Given the description of an element on the screen output the (x, y) to click on. 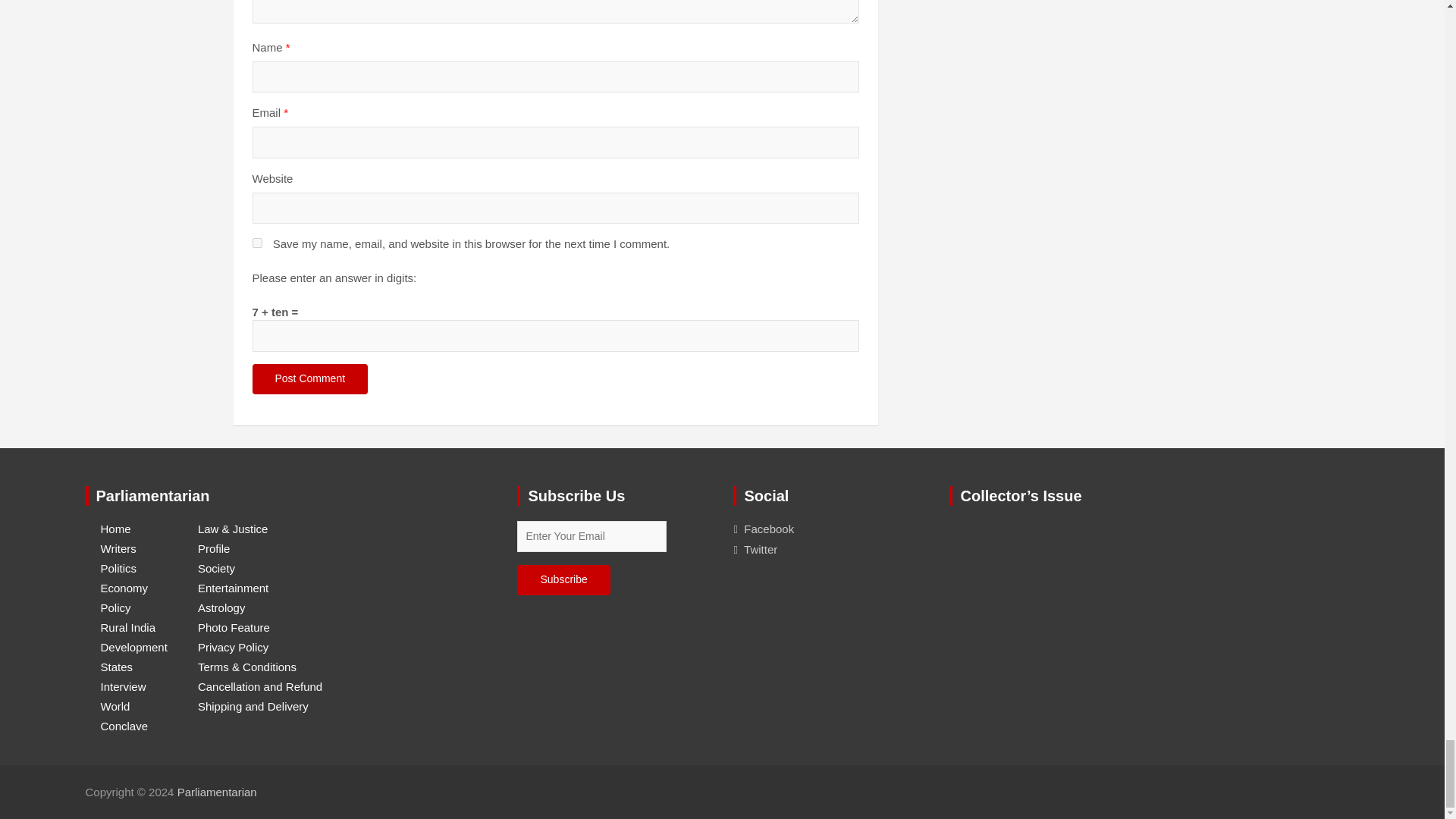
Parliamentarian (217, 791)
Post Comment (309, 378)
yes (256, 243)
Subscribe (563, 580)
